Given the description of an element on the screen output the (x, y) to click on. 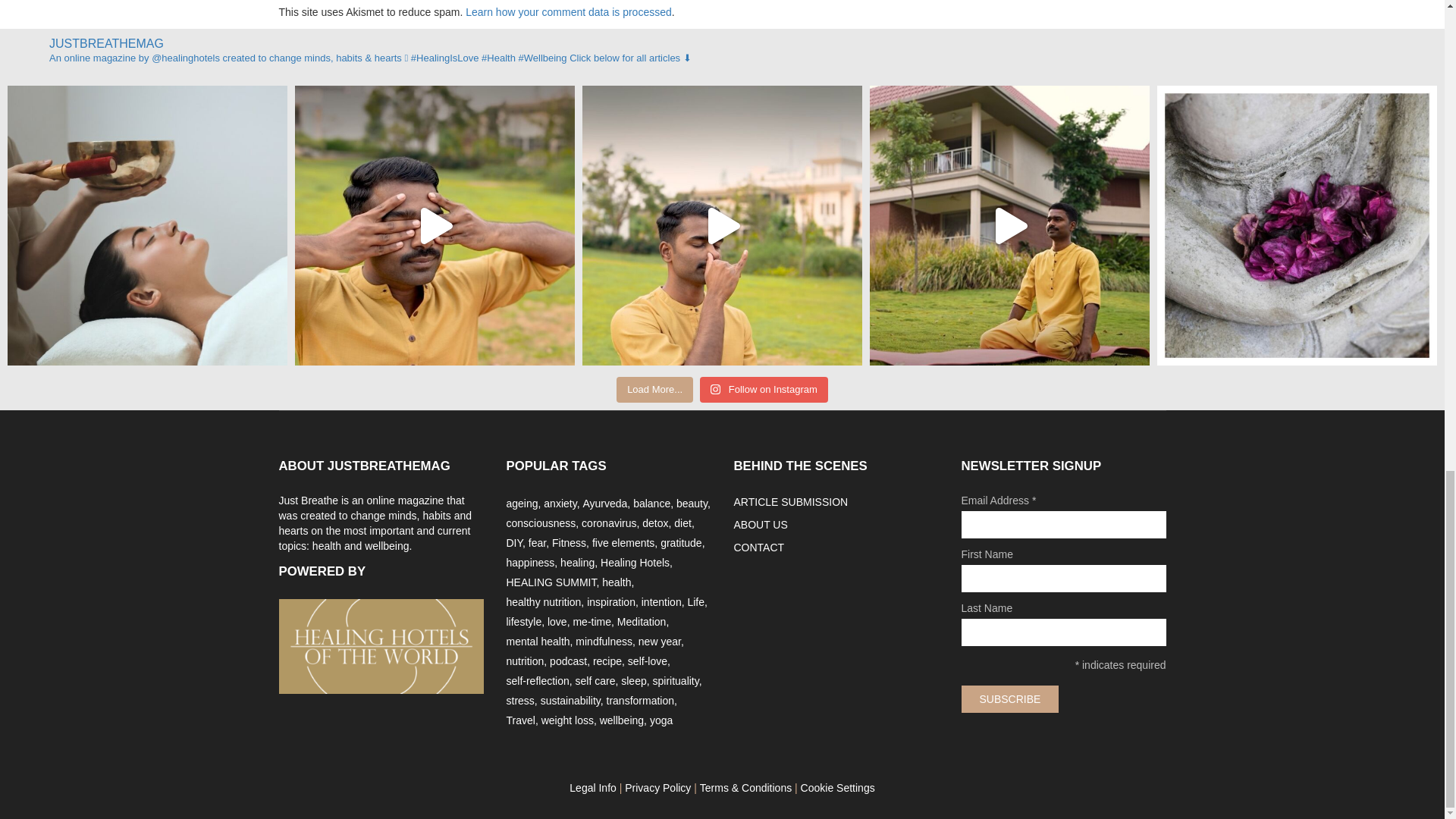
Visit healinghotelsoftheworld.com now ! (381, 646)
